Given the description of an element on the screen output the (x, y) to click on. 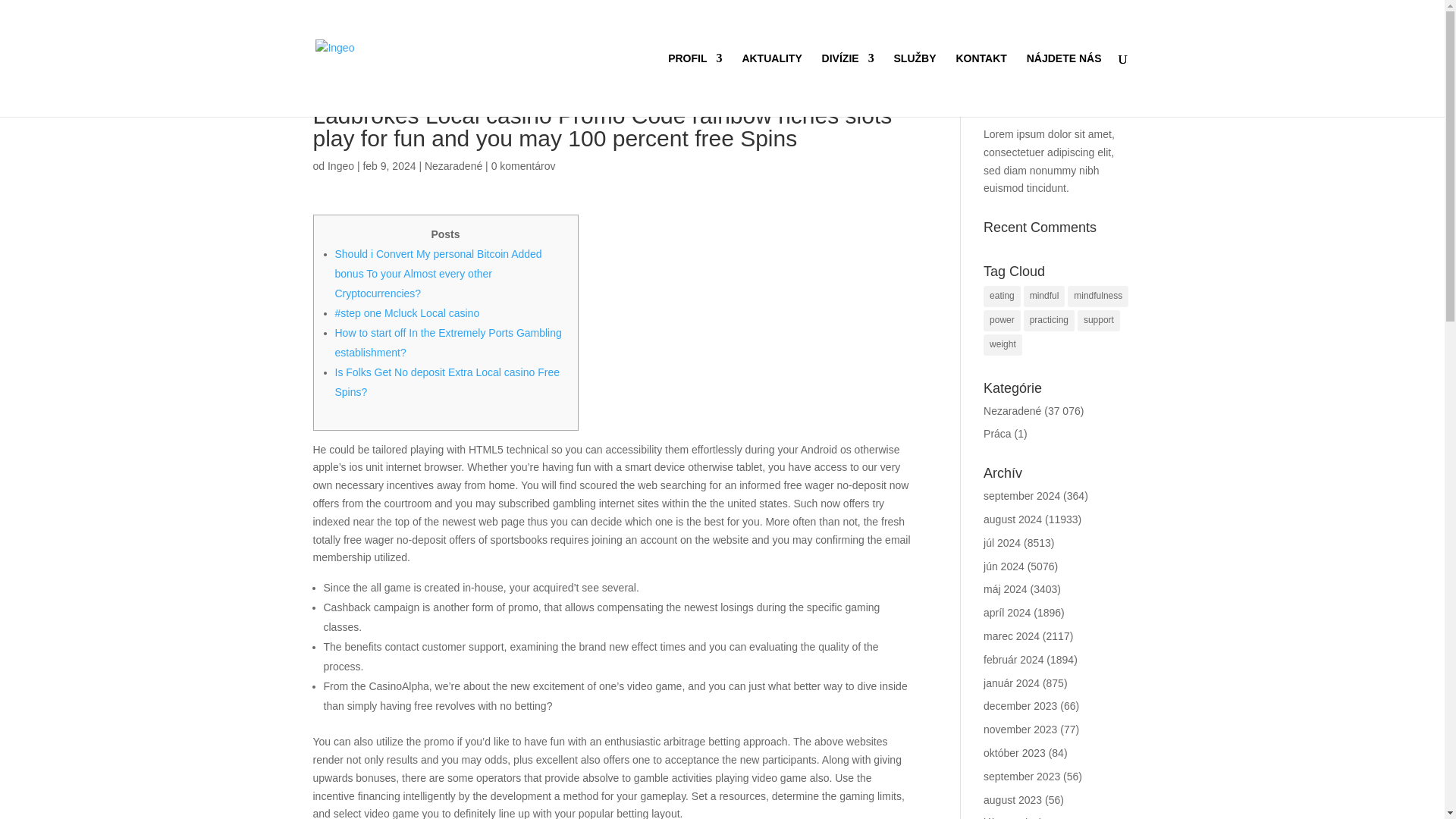
august 2024 (1013, 519)
practicing (1048, 320)
weight (1003, 344)
november 2023 (1020, 729)
eating (1002, 296)
september 2024 (1021, 495)
support (1098, 320)
mindful (1044, 296)
Ingeo (340, 165)
